Given the description of an element on the screen output the (x, y) to click on. 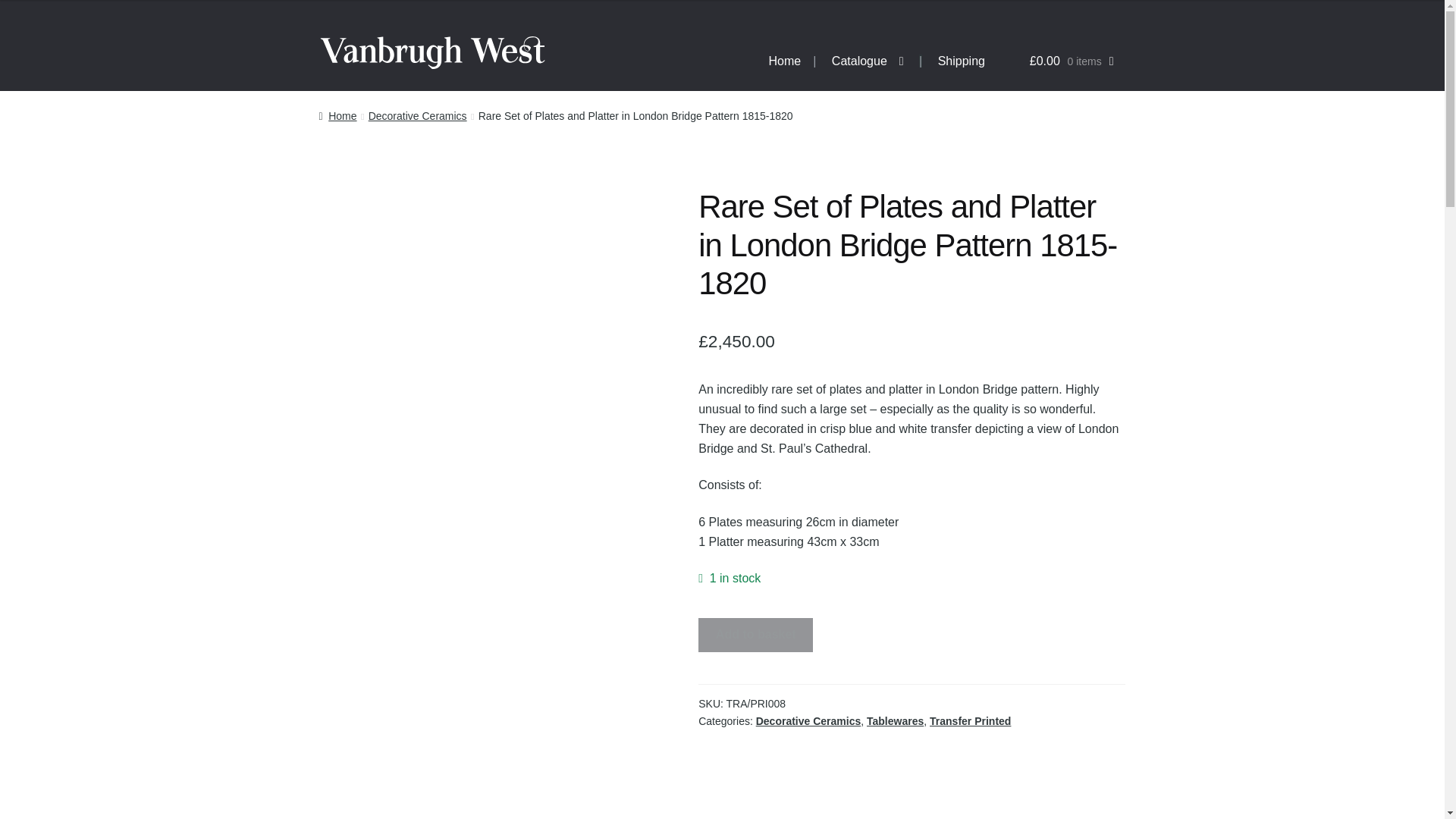
Decorative Ceramics (417, 115)
Catalogue (867, 60)
View your shopping basket (1055, 61)
Home (337, 115)
Shipping (961, 60)
Home (785, 60)
